Given the description of an element on the screen output the (x, y) to click on. 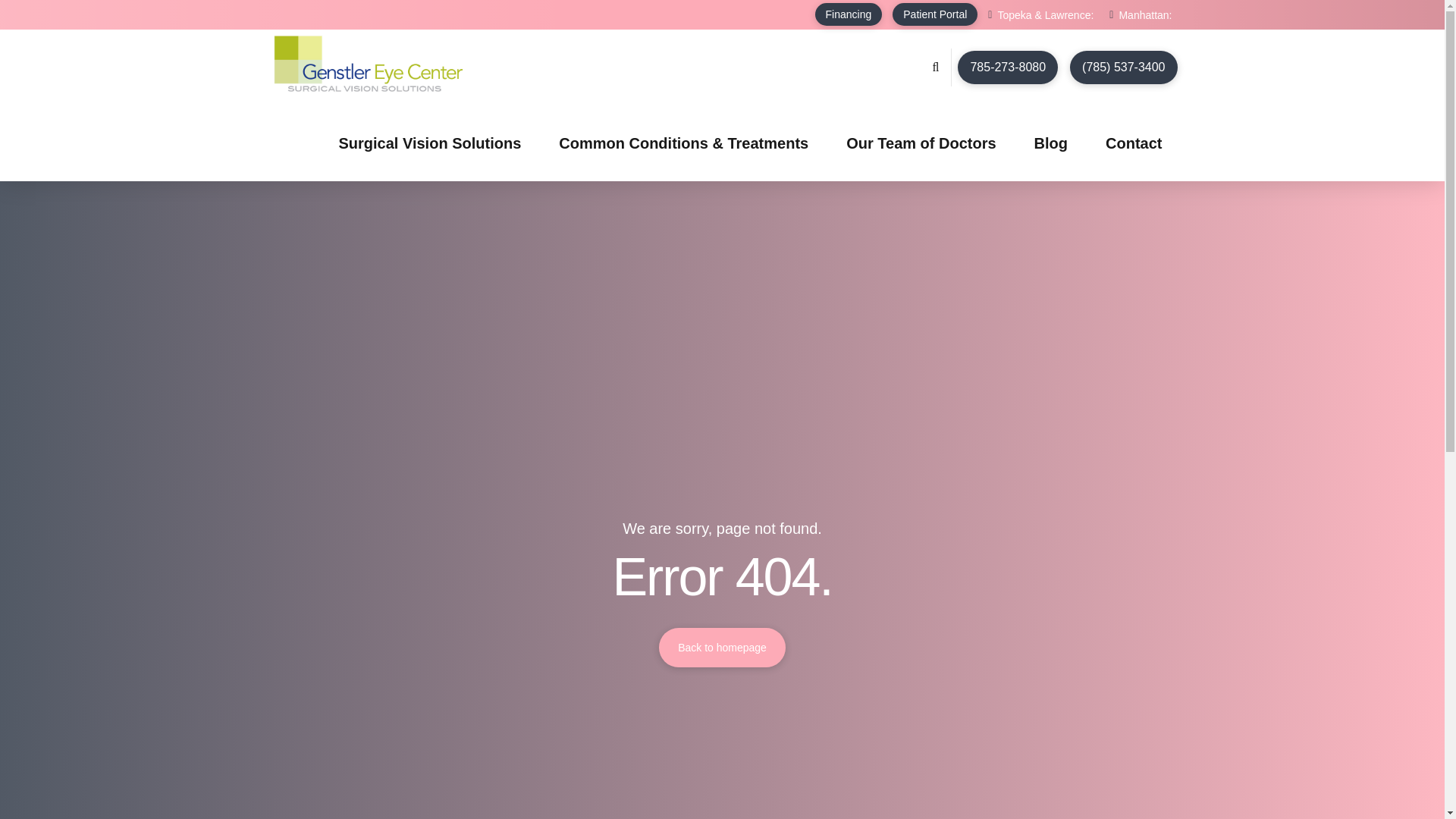
Patient Portal (934, 14)
785-273-8080 (1008, 67)
Back to homepage (722, 647)
Financing (848, 14)
785-273-8080 (1008, 67)
Surgical Vision Solutions (429, 143)
Patient Portal (934, 14)
Our Team of Doctors (920, 143)
Financing (848, 14)
Blog (1051, 143)
Contact (1133, 143)
